Given the description of an element on the screen output the (x, y) to click on. 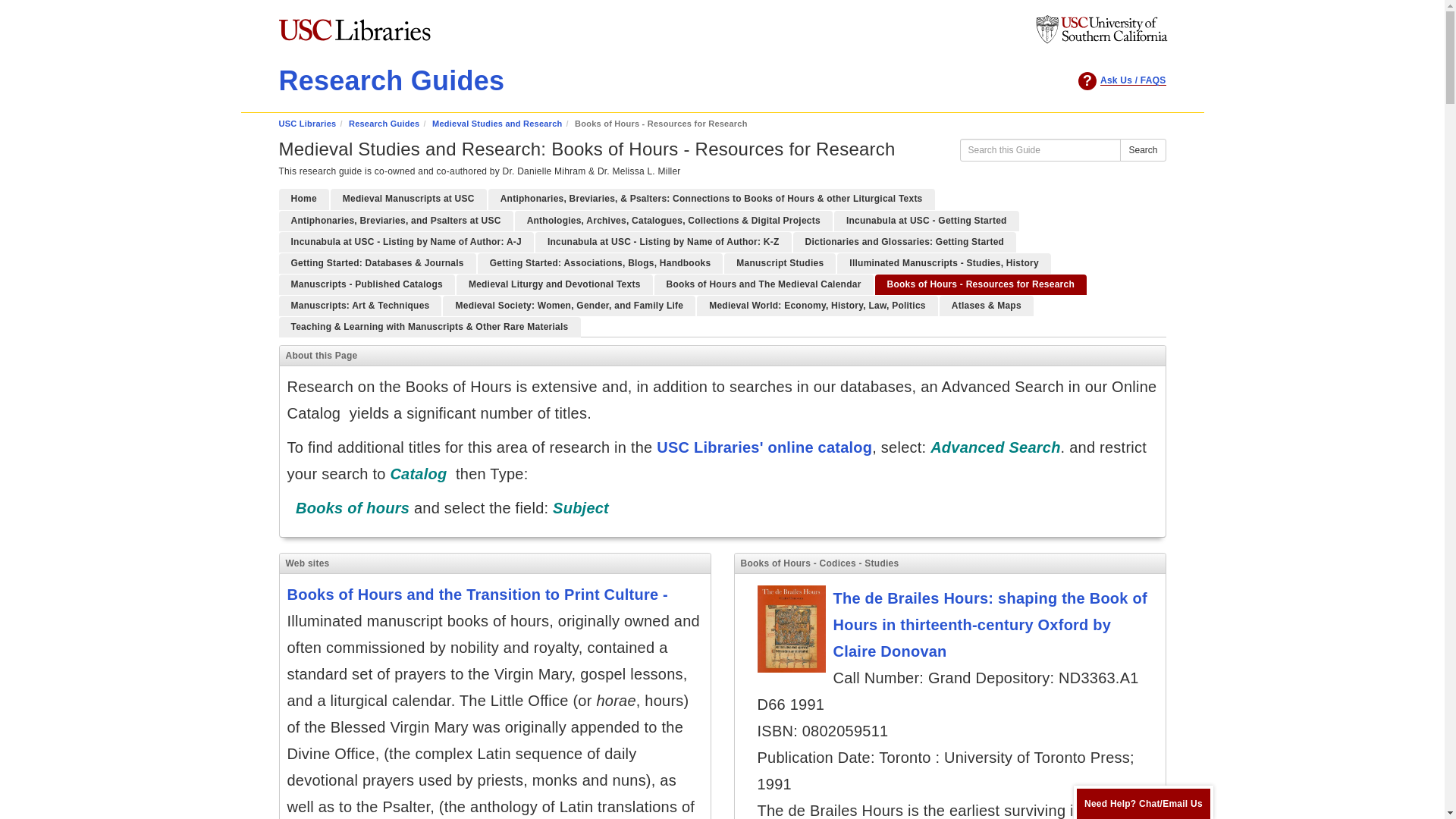
Authored by Dr. Danielle Mihram. (366, 284)
Authored by Dr. Danielle Mihram. (980, 284)
usc-logo (1100, 29)
Incunabula at USC - Listing by Name of Author: K-Z (663, 241)
Medieval Society: Women, Gender, and Family Life (568, 305)
Authored by Dr. Danielle Mihram. (926, 220)
Authored by Dr. Melissa L. Miller. (904, 241)
USC Libraries (307, 122)
Incunabula at USC - Getting Started (926, 220)
Authored by Dr. Danielle Mihram. (377, 263)
Authored by Dr. Danielle Mihram. (779, 263)
Authored by Dr. Danielle Mihram. (360, 305)
Medieval World: Economy, History, Law, Politics (817, 305)
Getting Started: Associations, Blogs, Handbooks (600, 263)
